Given the description of an element on the screen output the (x, y) to click on. 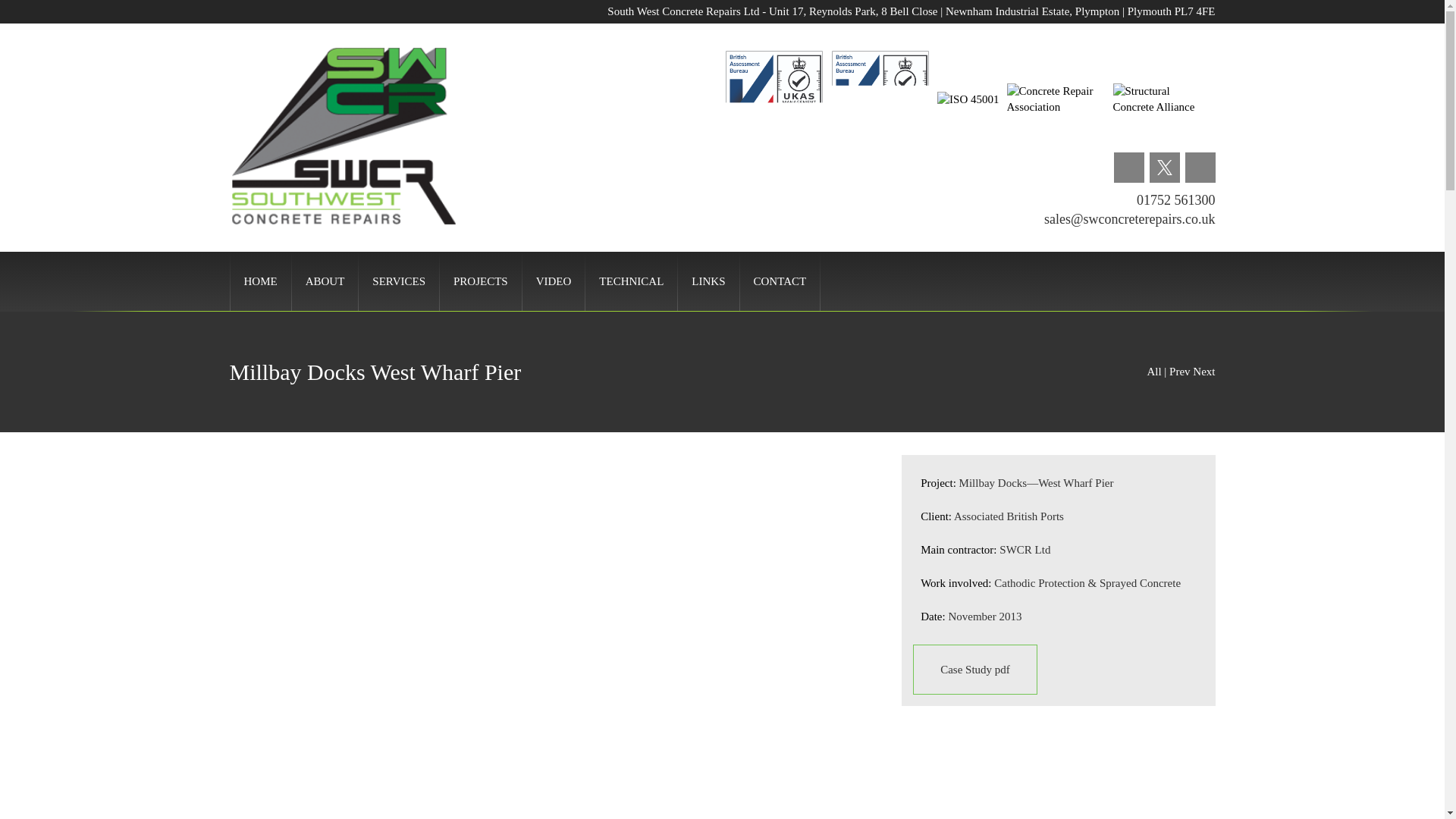
VIDEO (554, 281)
01752 561300 (1176, 199)
SERVICES (398, 281)
ABOUT (325, 281)
HOME (259, 281)
PROJECTS (480, 281)
TECHNICAL (631, 281)
